Given the description of an element on the screen output the (x, y) to click on. 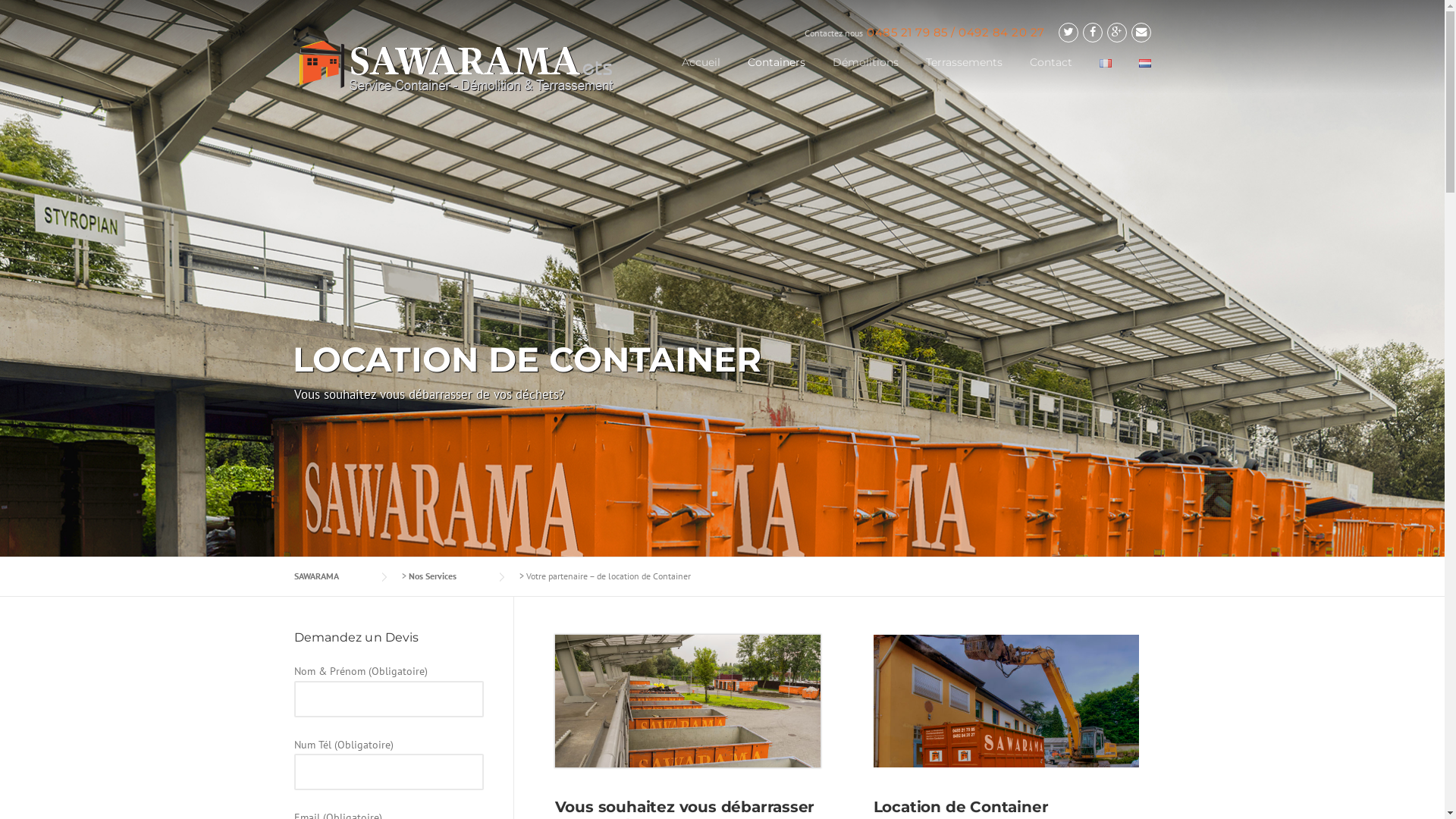
Nederlands Element type: hover (1145, 63)
Email Element type: hover (1141, 31)
Facebook Element type: hover (1092, 31)
Contact Element type: text (1050, 73)
Skip to content Element type: text (0, 0)
Google Plus Element type: hover (1116, 31)
Accueil Element type: text (700, 73)
Containers Element type: text (776, 73)
Terrassements Element type: text (963, 73)
Twitter Element type: hover (1068, 31)
Nos Services Element type: text (446, 575)
SAWARAMA Element type: text (331, 575)
SAWARAMA Element type: hover (455, 67)
